Given the description of an element on the screen output the (x, y) to click on. 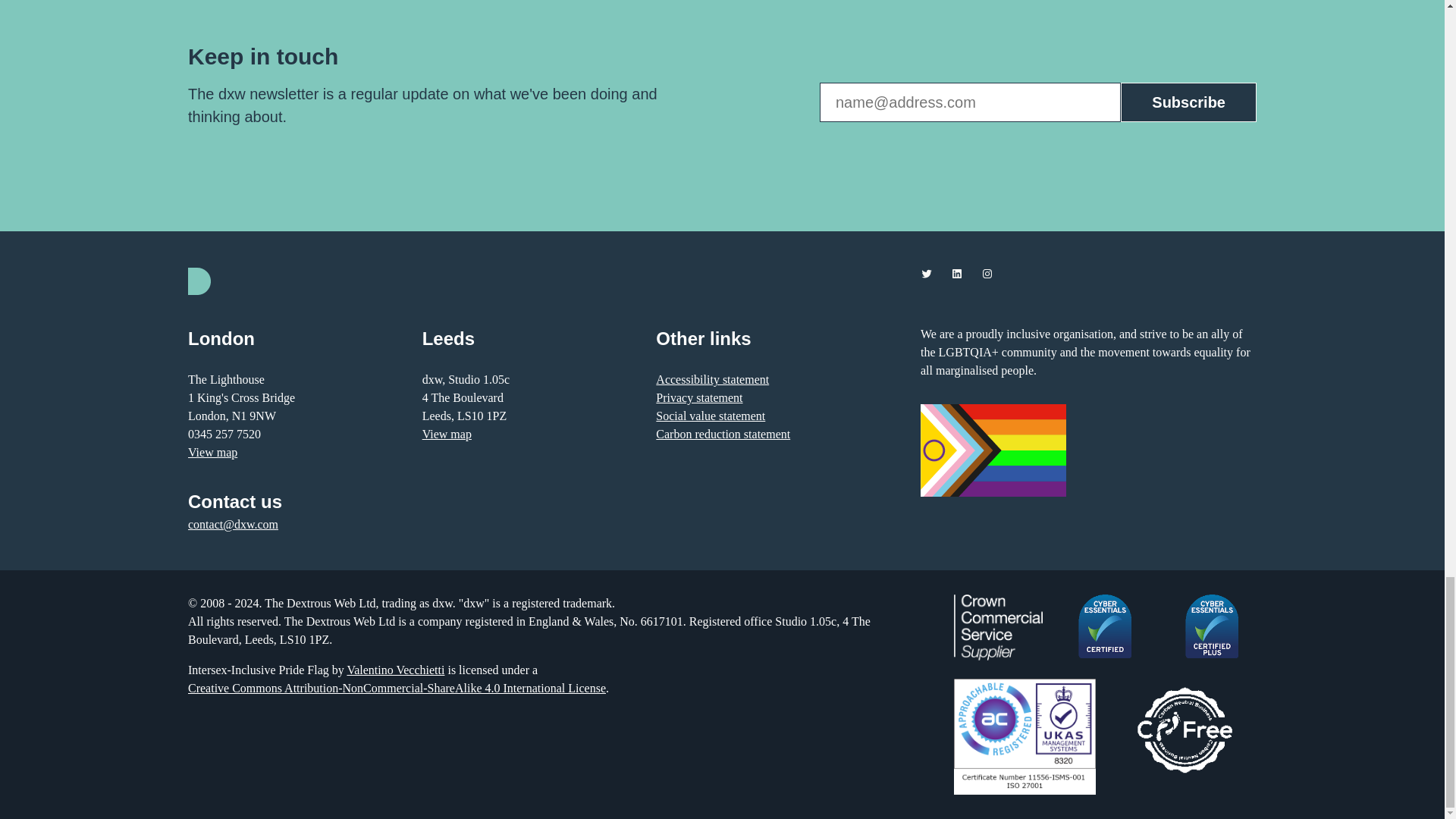
LinkedIn (956, 273)
Instagram (986, 273)
Subscribe (1188, 102)
Twitter (926, 273)
Subscribe (1188, 102)
